Given the description of an element on the screen output the (x, y) to click on. 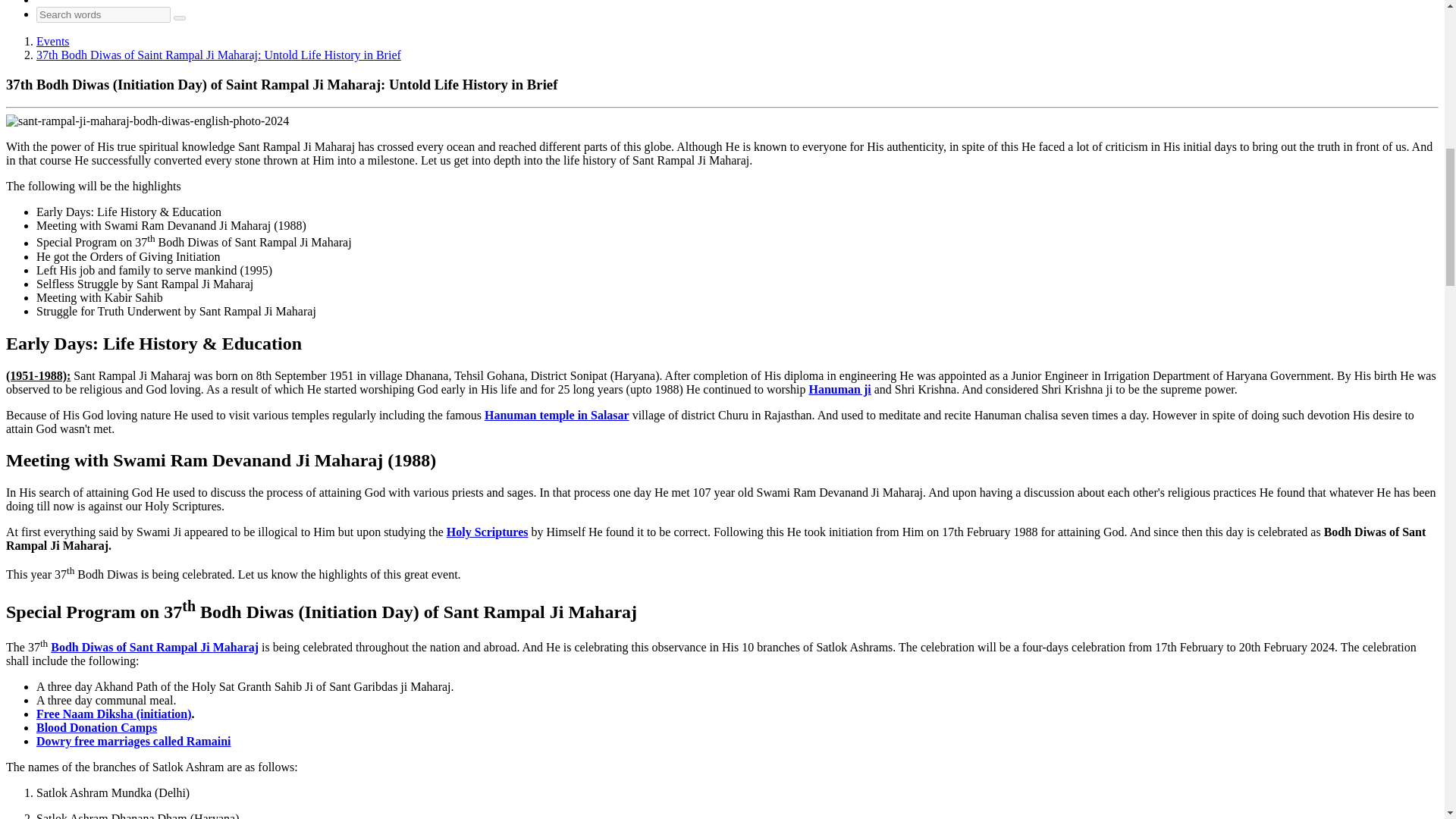
Annual Events (52, 41)
